Given the description of an element on the screen output the (x, y) to click on. 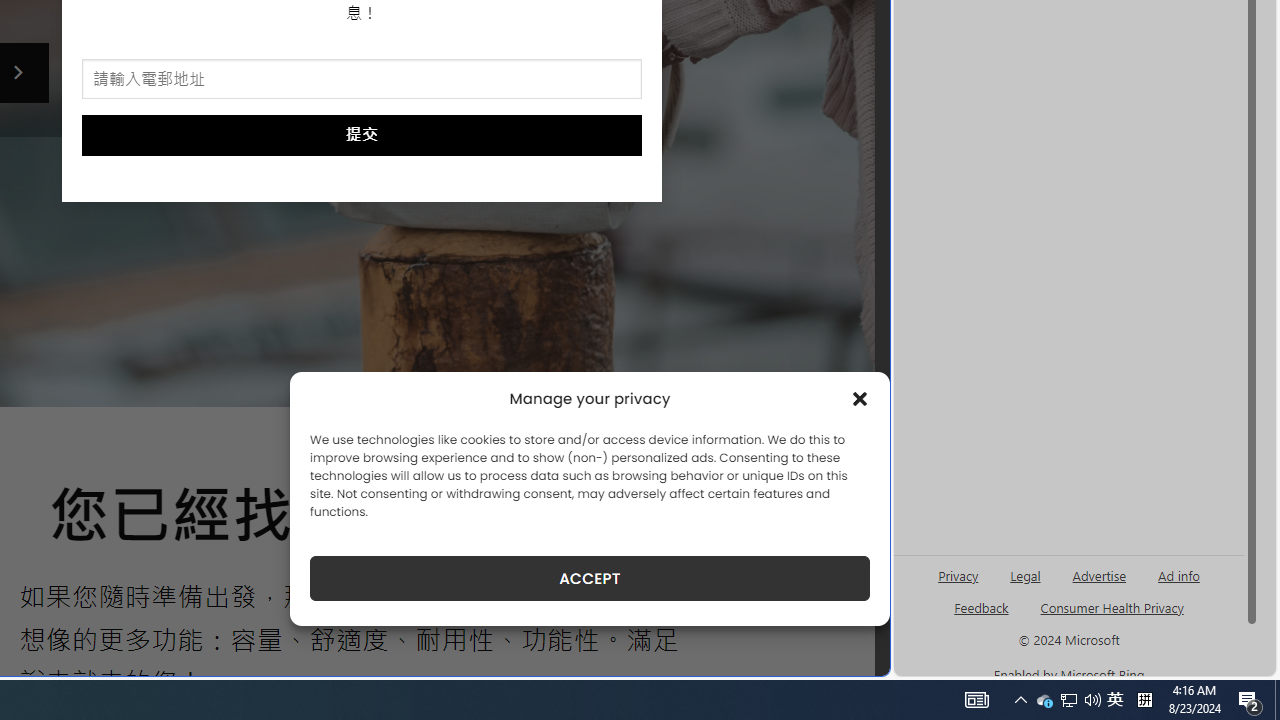
AutomationID: field_5_1 (361, 80)
ACCEPT (589, 578)
AutomationID: genId96 (981, 615)
Class: cmplz-close (859, 398)
AutomationID: input_5_1 (361, 79)
AutomationID: sb_feedback (980, 607)
